Given the description of an element on the screen output the (x, y) to click on. 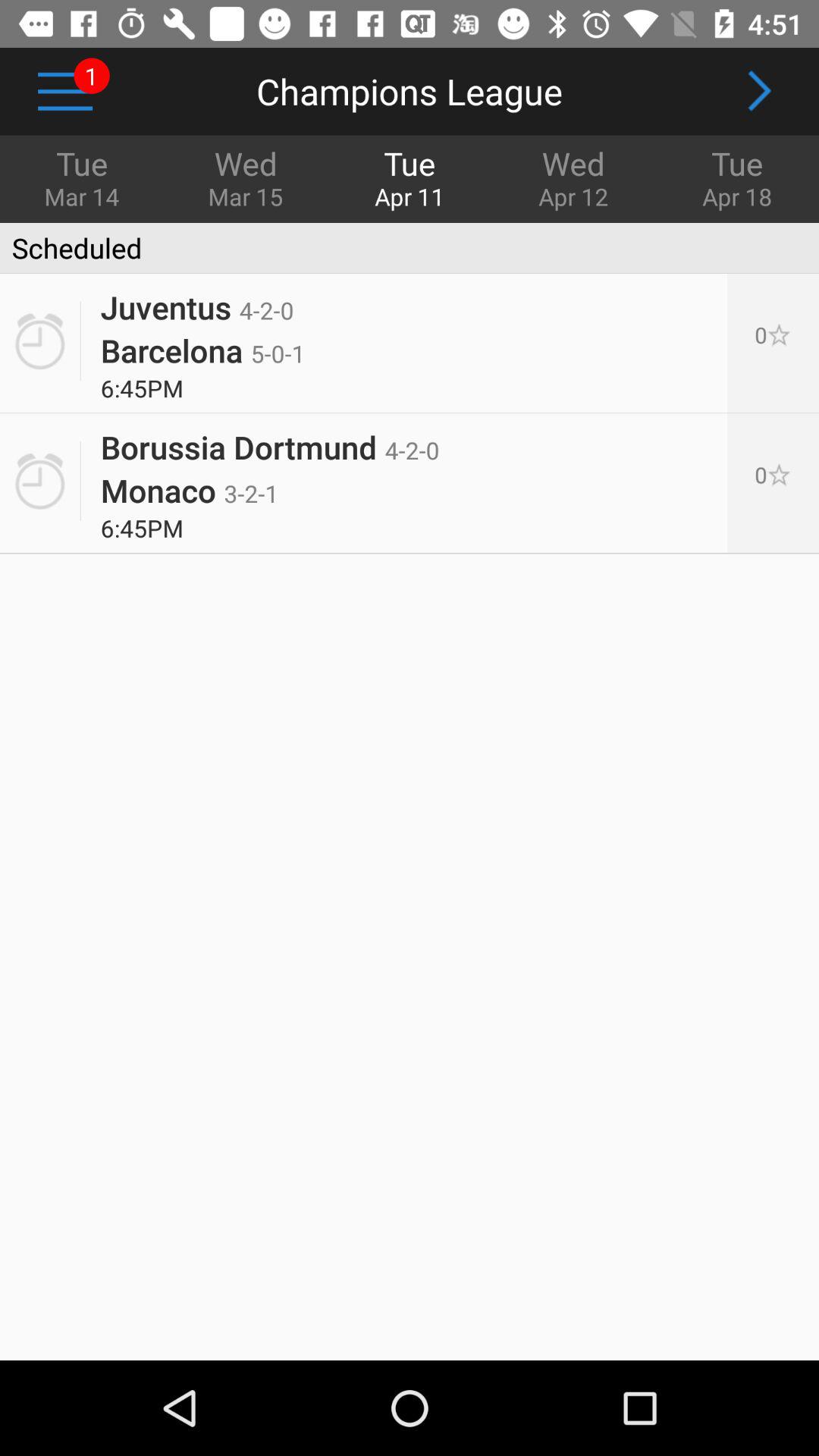
press the icon to the left of the 0[p] item (189, 489)
